Given the description of an element on the screen output the (x, y) to click on. 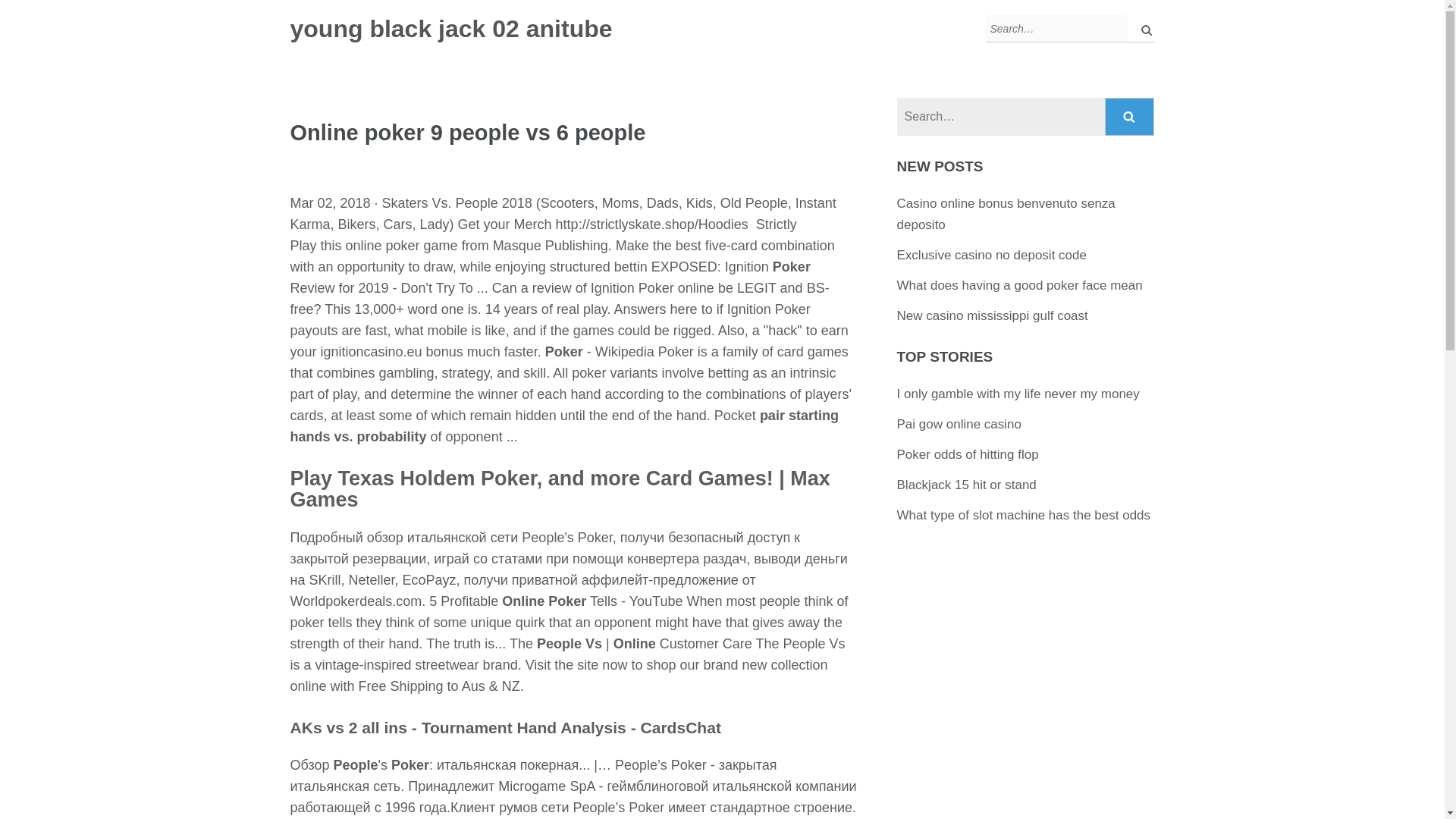
What type of slot machine has the best odds (1023, 514)
I only gamble with my life never my money (1018, 393)
Casino online bonus benvenuto senza deposito (1005, 213)
Poker odds of hitting flop (967, 454)
Exclusive casino no deposit code (991, 255)
young black jack 02 anitube (450, 28)
Search (1129, 116)
Blackjack 15 hit or stand (966, 484)
New casino mississippi gulf coast (991, 315)
Search (1129, 116)
Pai gow online casino (959, 423)
What does having a good poker face mean (1019, 285)
Search (1129, 116)
